Given the description of an element on the screen output the (x, y) to click on. 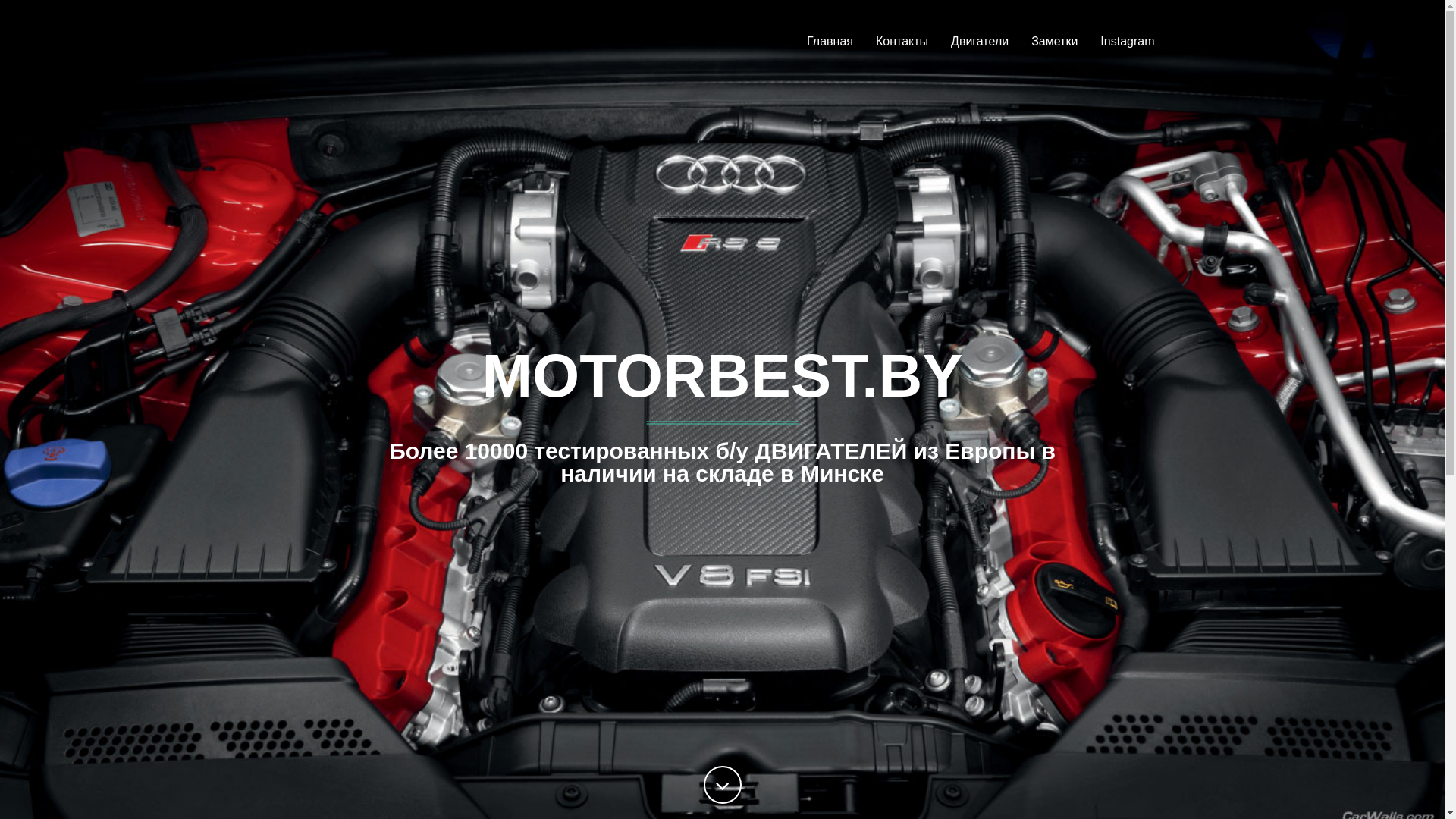
Instagram Element type: text (1126, 41)
